Given the description of an element on the screen output the (x, y) to click on. 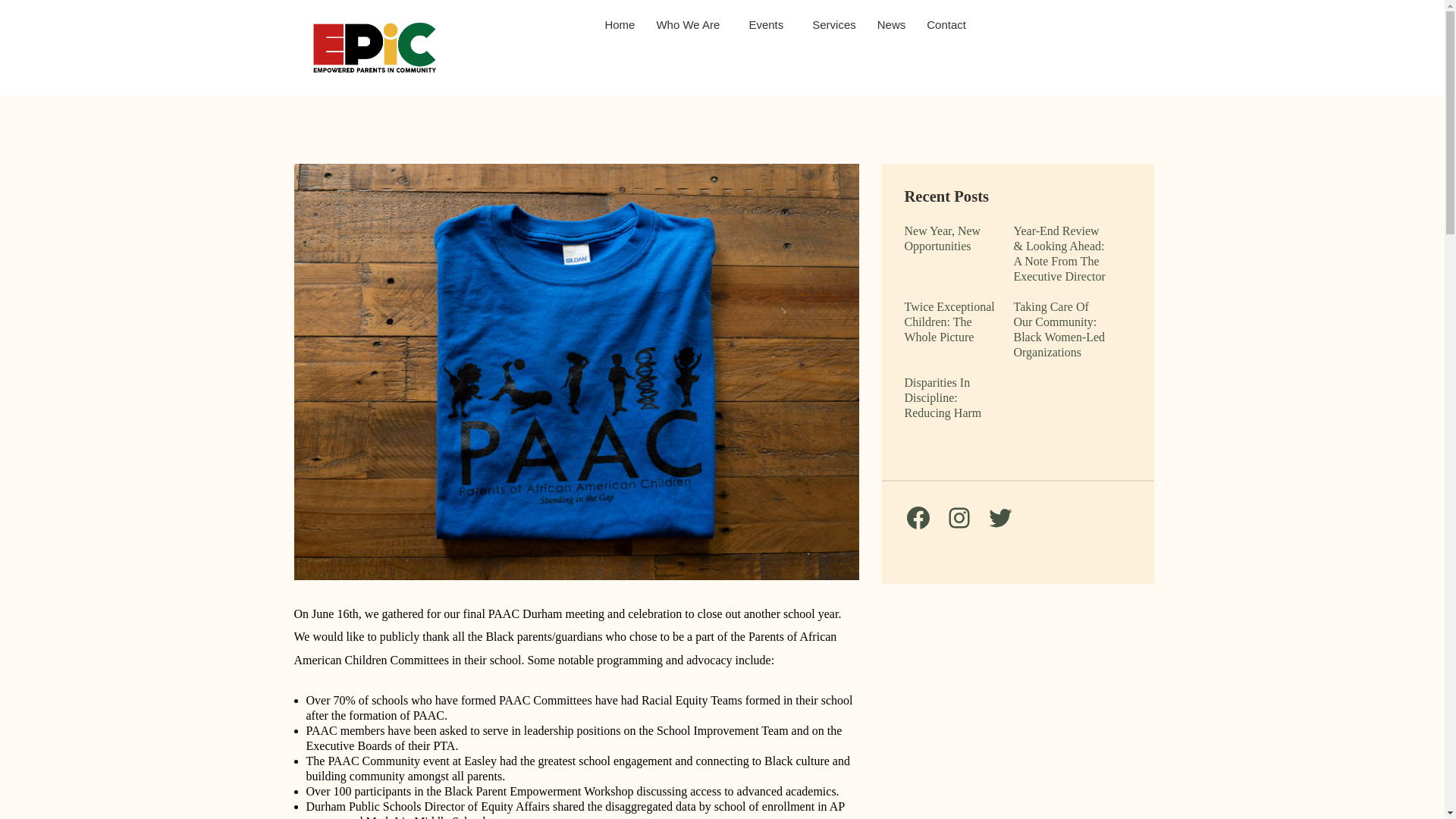
Events (769, 24)
Services (834, 24)
News (891, 24)
Taking Care Of Our Community: Black Women-Led Organizations (1059, 329)
Twice Exceptional Children: The Whole Picture (950, 321)
Contact (946, 24)
Who We Are (691, 24)
Disparities In Discipline: Reducing Harm (950, 397)
New Year, New Opportunities (950, 238)
Home (619, 24)
